Given the description of an element on the screen output the (x, y) to click on. 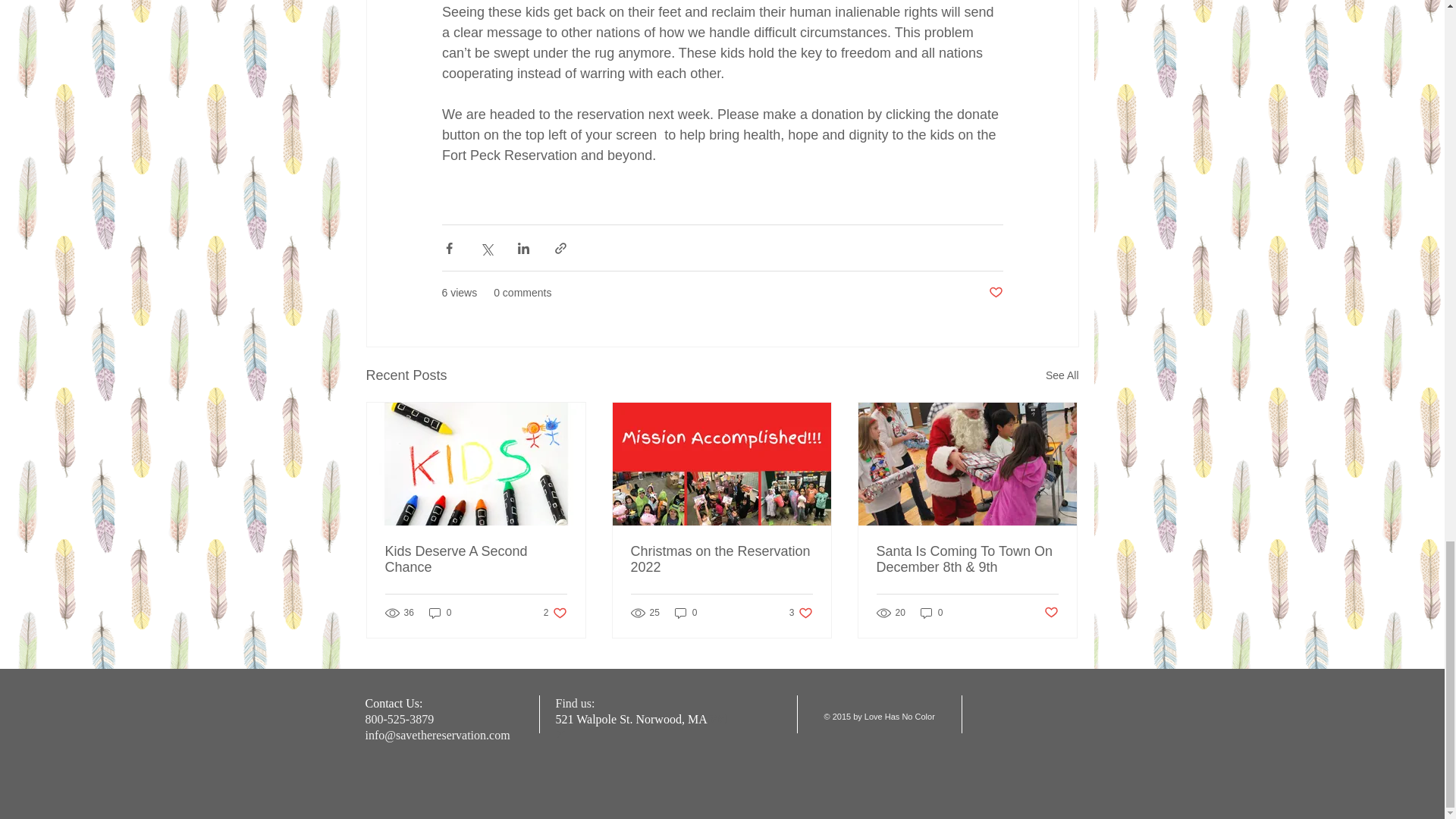
See All (1061, 375)
0 (440, 612)
Kids Deserve A Second Chance (476, 559)
Christmas on the Reservation 2022 (721, 559)
Post not marked as liked (555, 612)
